Given the description of an element on the screen output the (x, y) to click on. 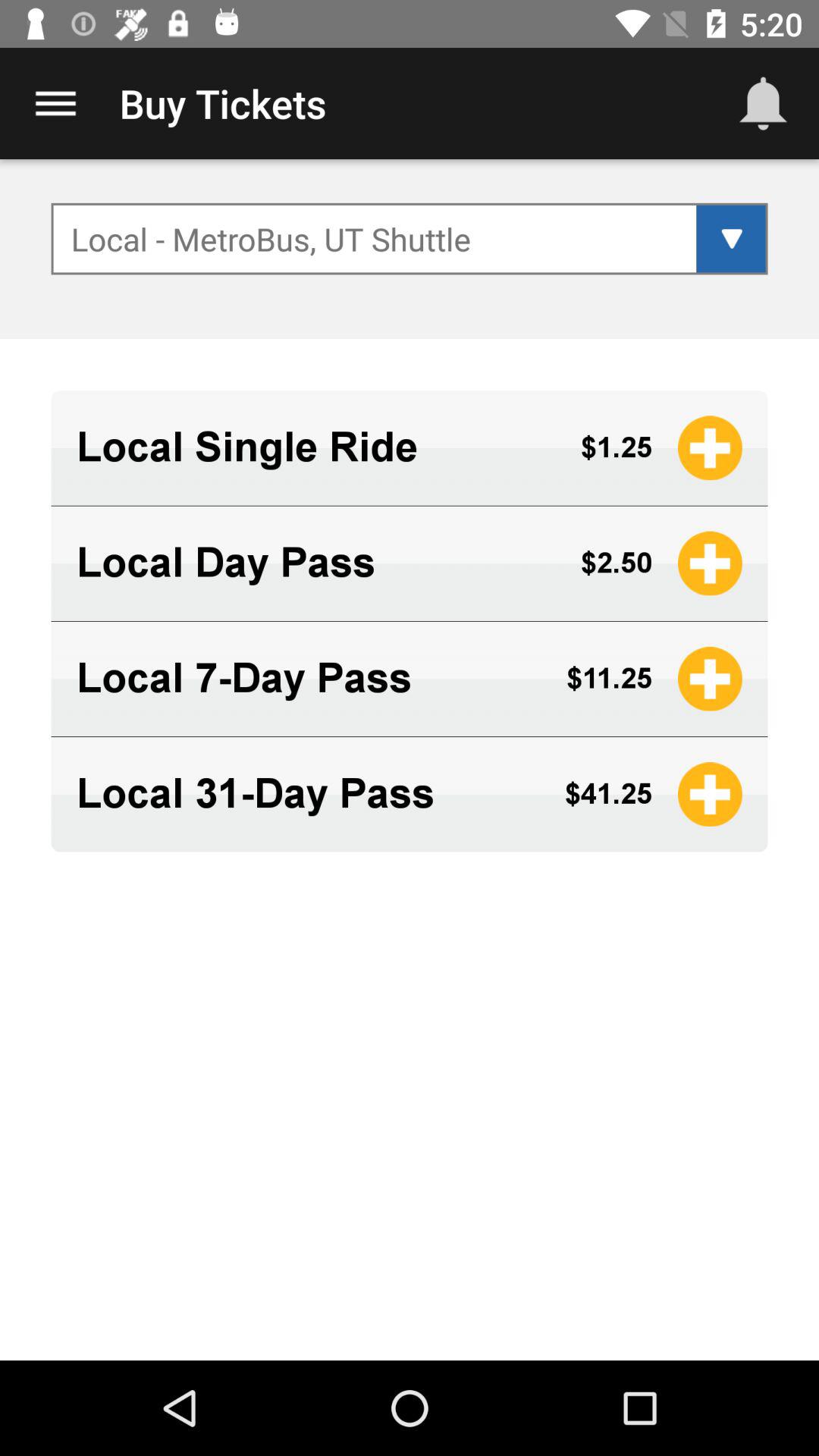
press item to the left of the buy tickets app (55, 103)
